Given the description of an element on the screen output the (x, y) to click on. 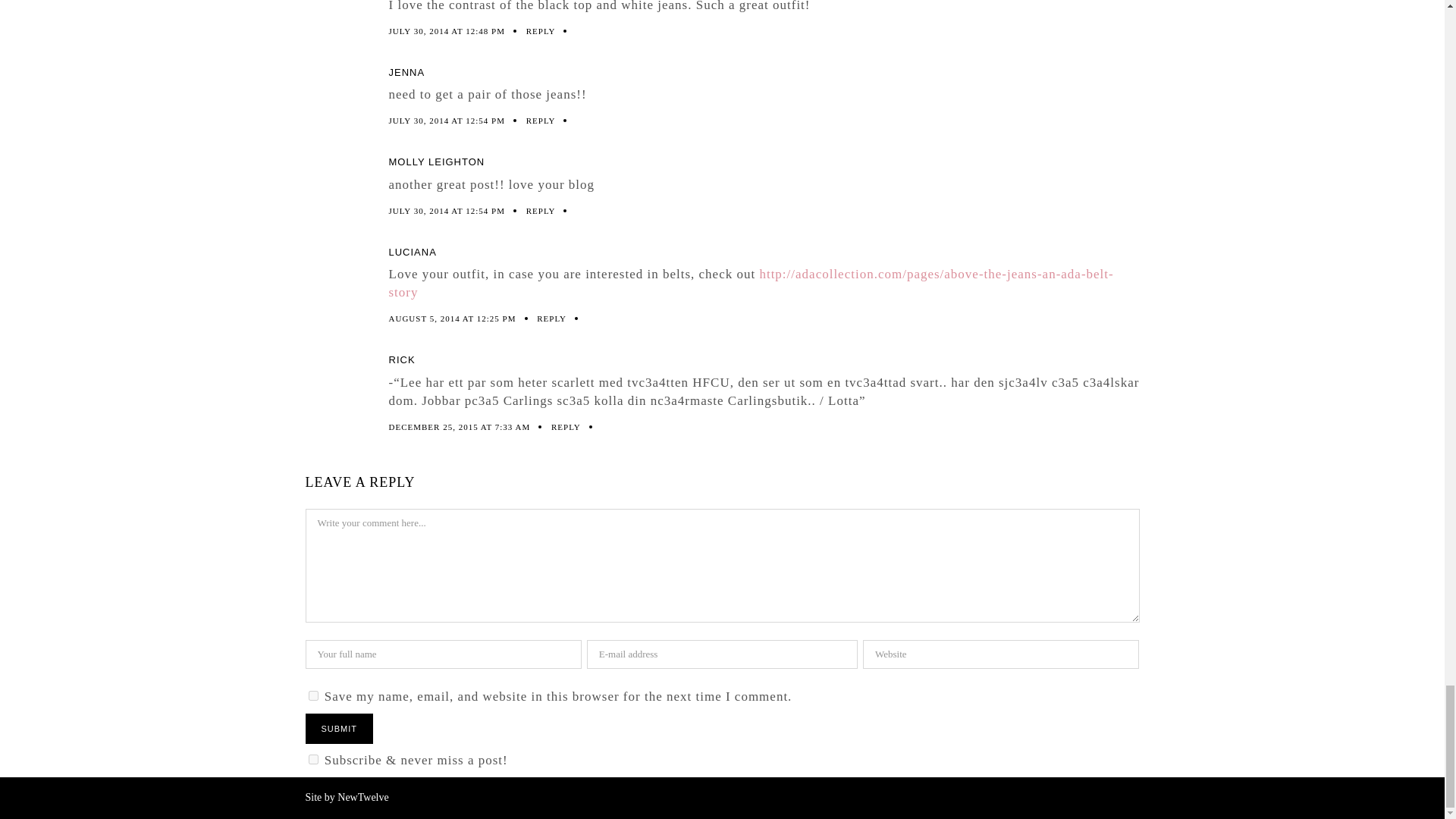
Submit (338, 728)
subscribe (312, 759)
yes (312, 696)
